Given the description of an element on the screen output the (x, y) to click on. 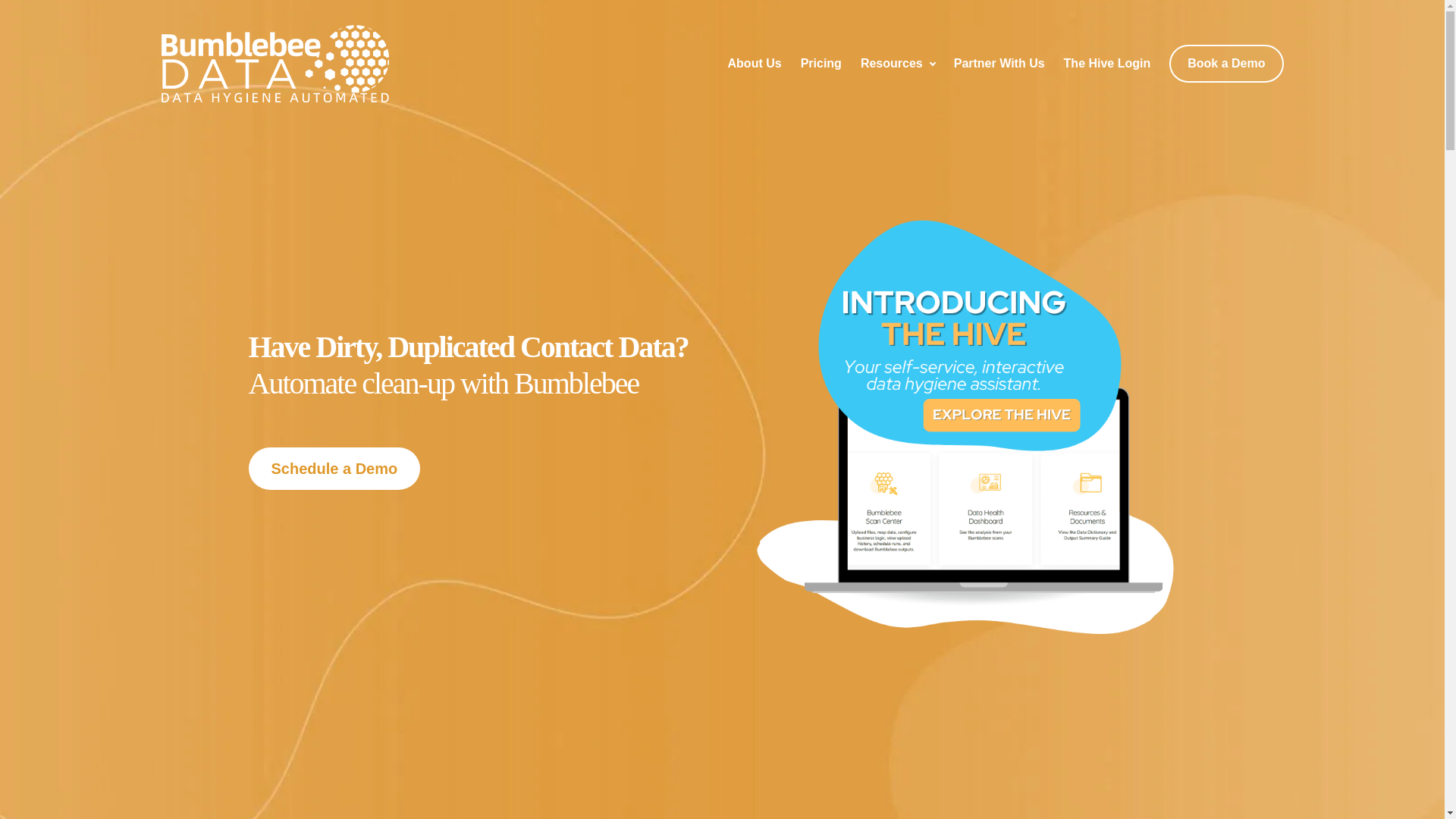
Resources (891, 63)
Pricing (820, 63)
Schedule a Demo (334, 468)
Partner With Us (999, 63)
Book a Demo (1225, 63)
The Hive Login (1107, 63)
About Us (754, 63)
